Given the description of an element on the screen output the (x, y) to click on. 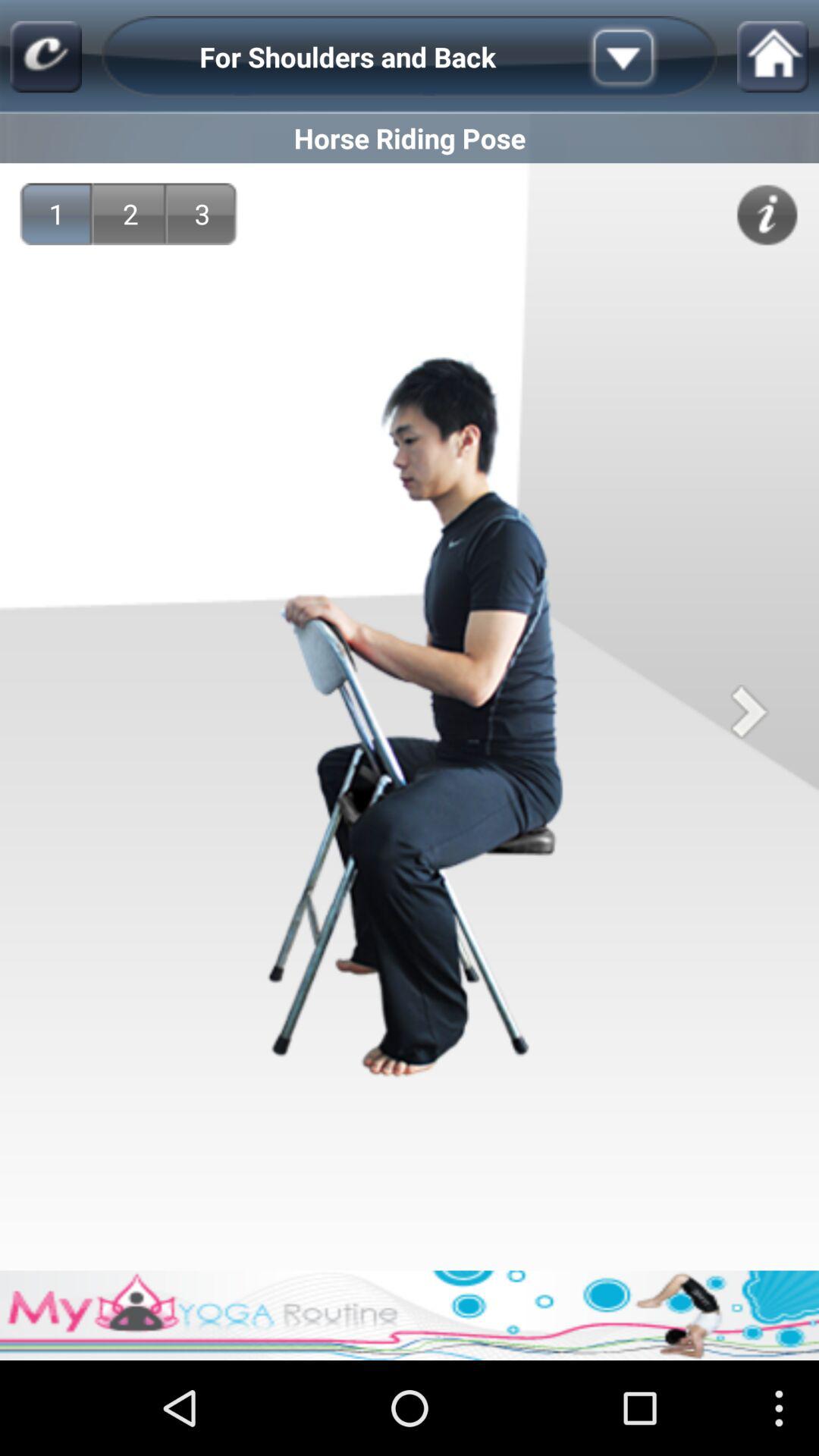
tap icon on the right (749, 711)
